Given the description of an element on the screen output the (x, y) to click on. 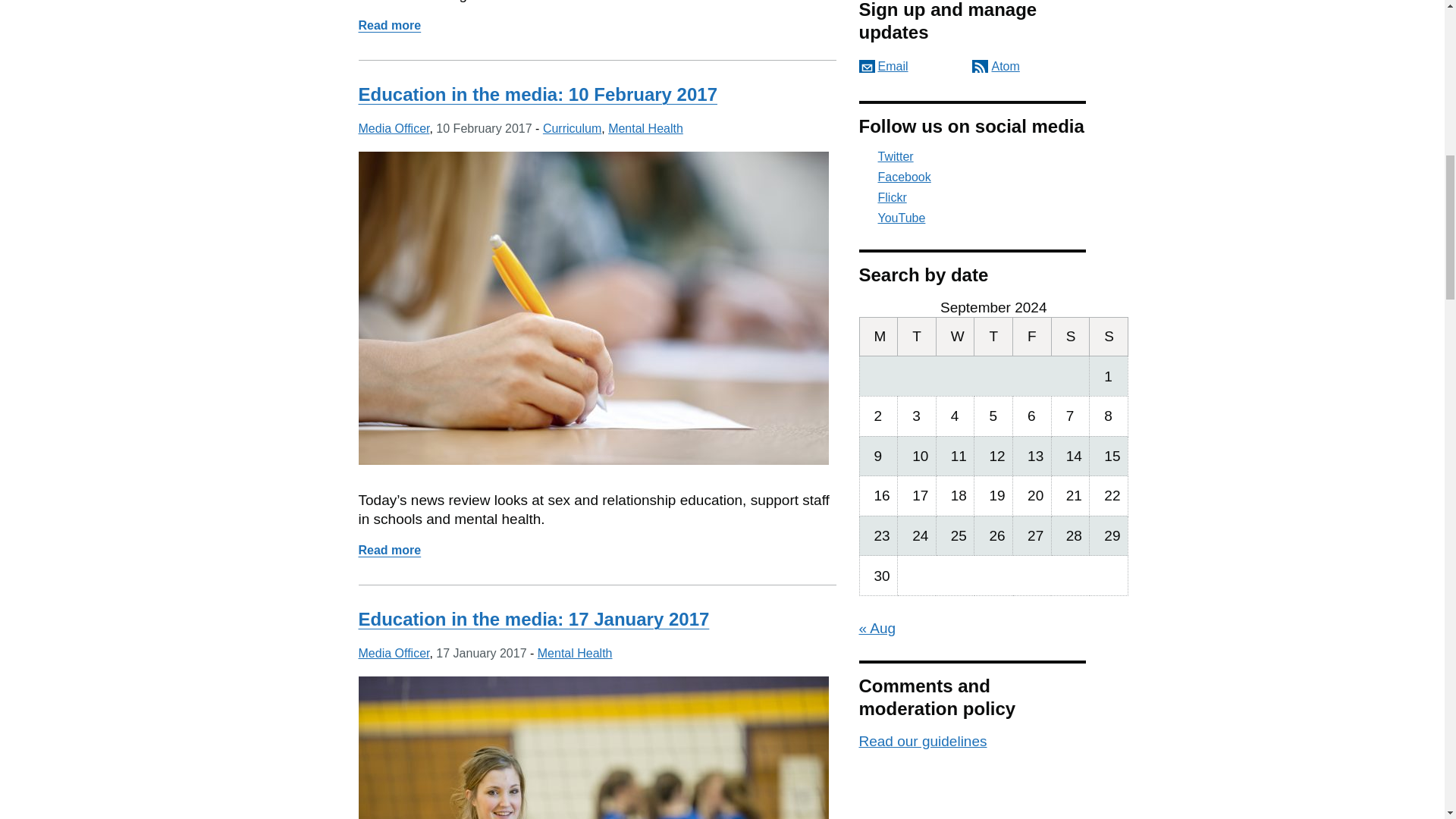
Mental Health (389, 24)
Monday (574, 653)
Friday (878, 335)
Sunday (1032, 335)
Posts by Media Officer (1108, 335)
Media Officer (393, 128)
Education in the media: 10 February 2017 (393, 653)
Posts by Media Officer (537, 94)
